Given the description of an element on the screen output the (x, y) to click on. 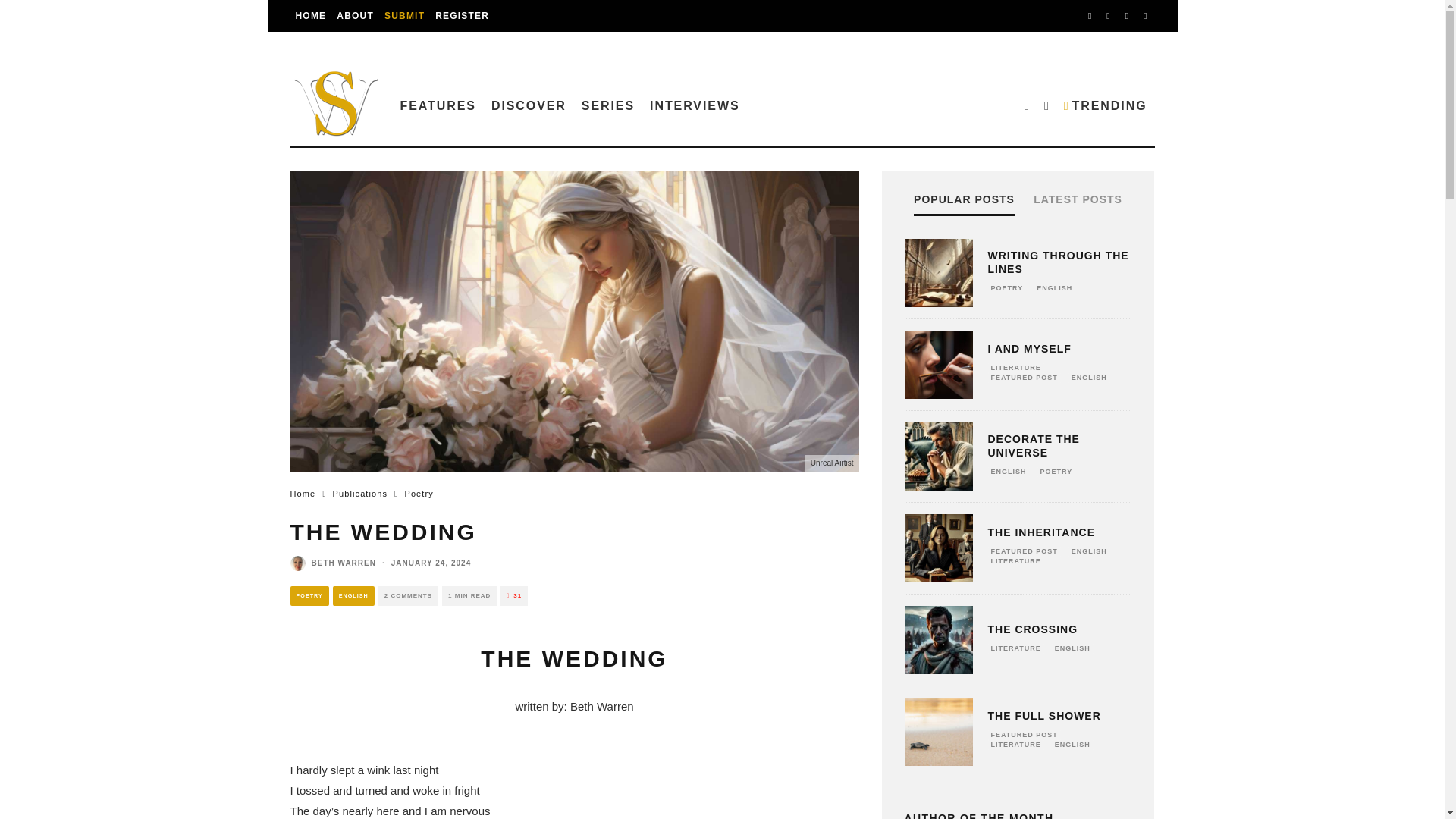
SUBMIT (403, 15)
FEATURES (438, 104)
DISCOVER (528, 104)
HOME (310, 15)
ABOUT (354, 15)
REGISTER (462, 15)
